Given the description of an element on the screen output the (x, y) to click on. 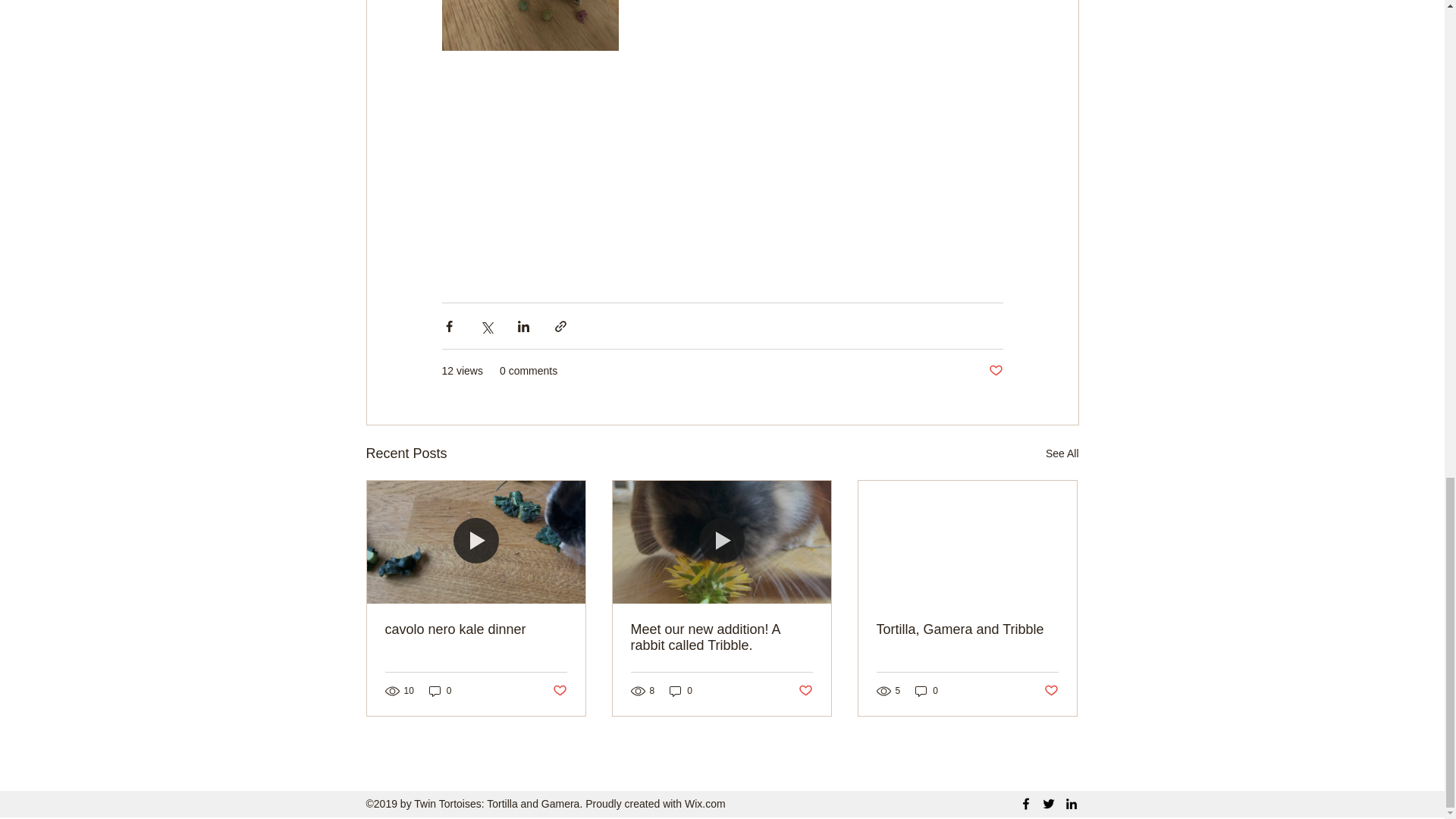
See All (1061, 454)
0 (926, 690)
cavolo nero kale dinner (476, 629)
0 (681, 690)
Post not marked as liked (1050, 691)
Post not marked as liked (995, 371)
Post not marked as liked (558, 691)
Meet our new addition! A rabbit called Tribble. (721, 637)
Post not marked as liked (804, 691)
Tortilla, Gamera and Tribble (967, 629)
